Given the description of an element on the screen output the (x, y) to click on. 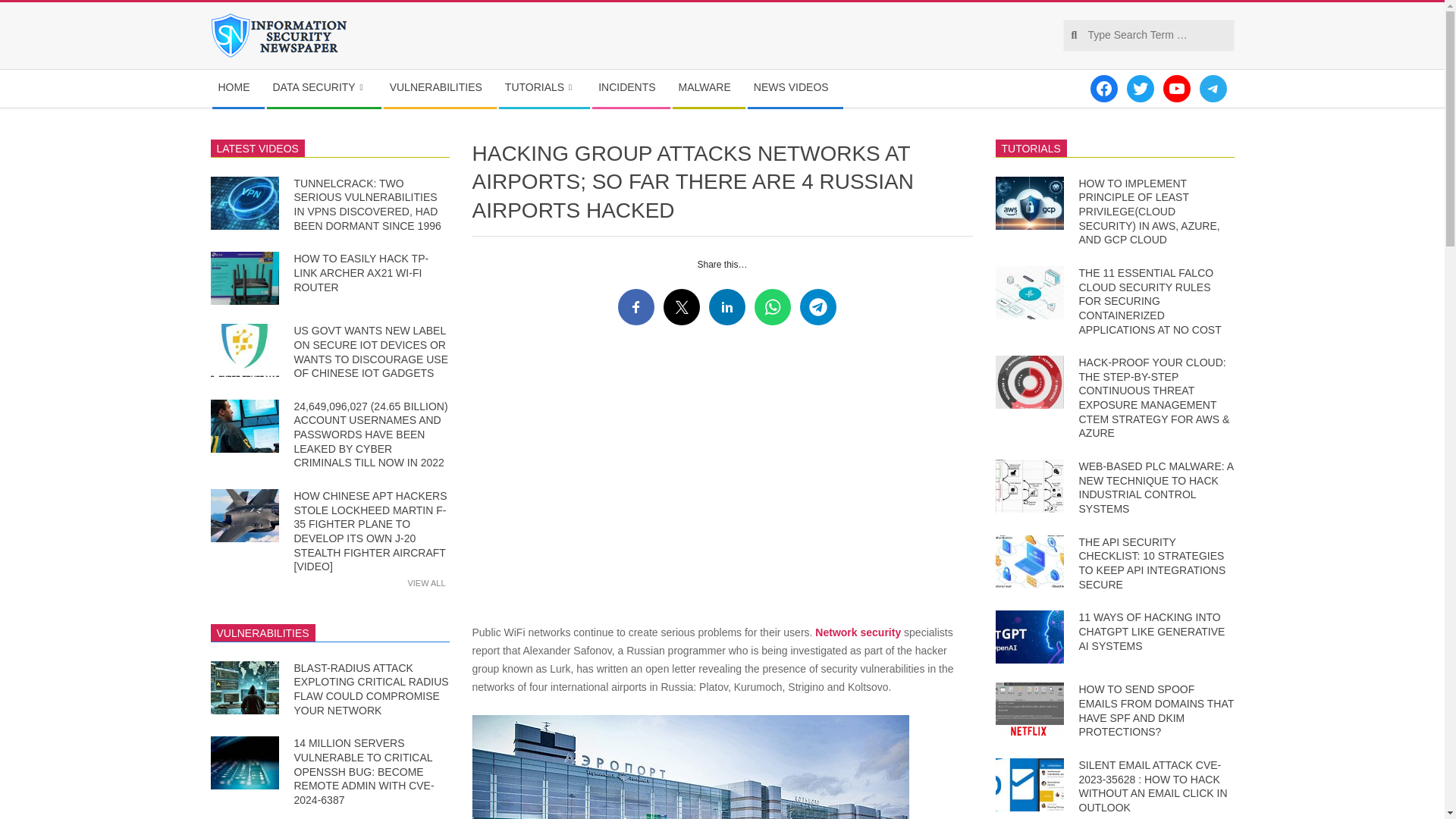
TUTORIALS (544, 88)
DATA SECURITY (322, 88)
HOME (237, 88)
VULNERABILITIES (439, 88)
